Given the description of an element on the screen output the (x, y) to click on. 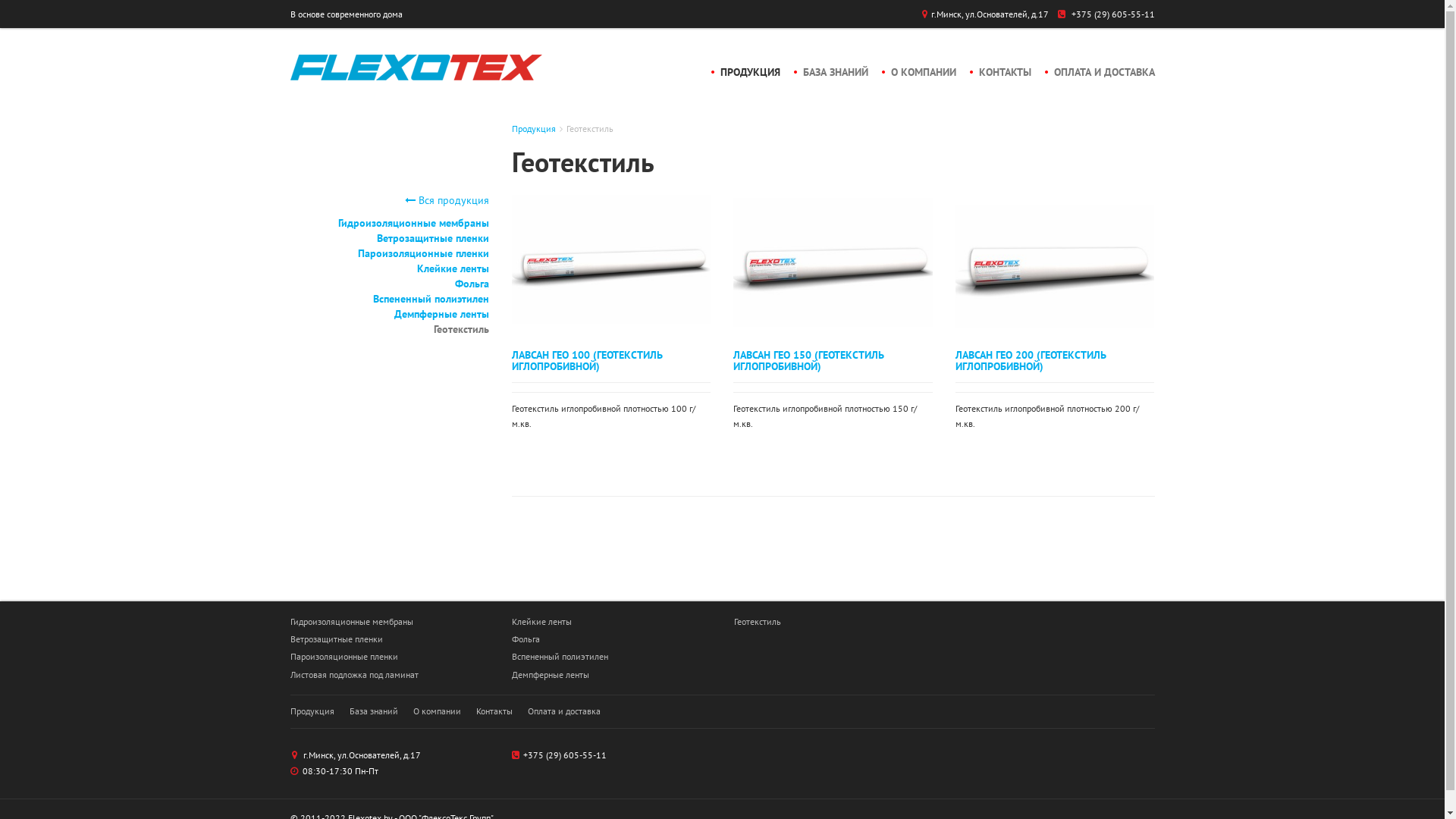
+375 (29) 605-55-11 Element type: text (1112, 13)
+375 (29) 605-55-11 Element type: text (564, 754)
